Given the description of an element on the screen output the (x, y) to click on. 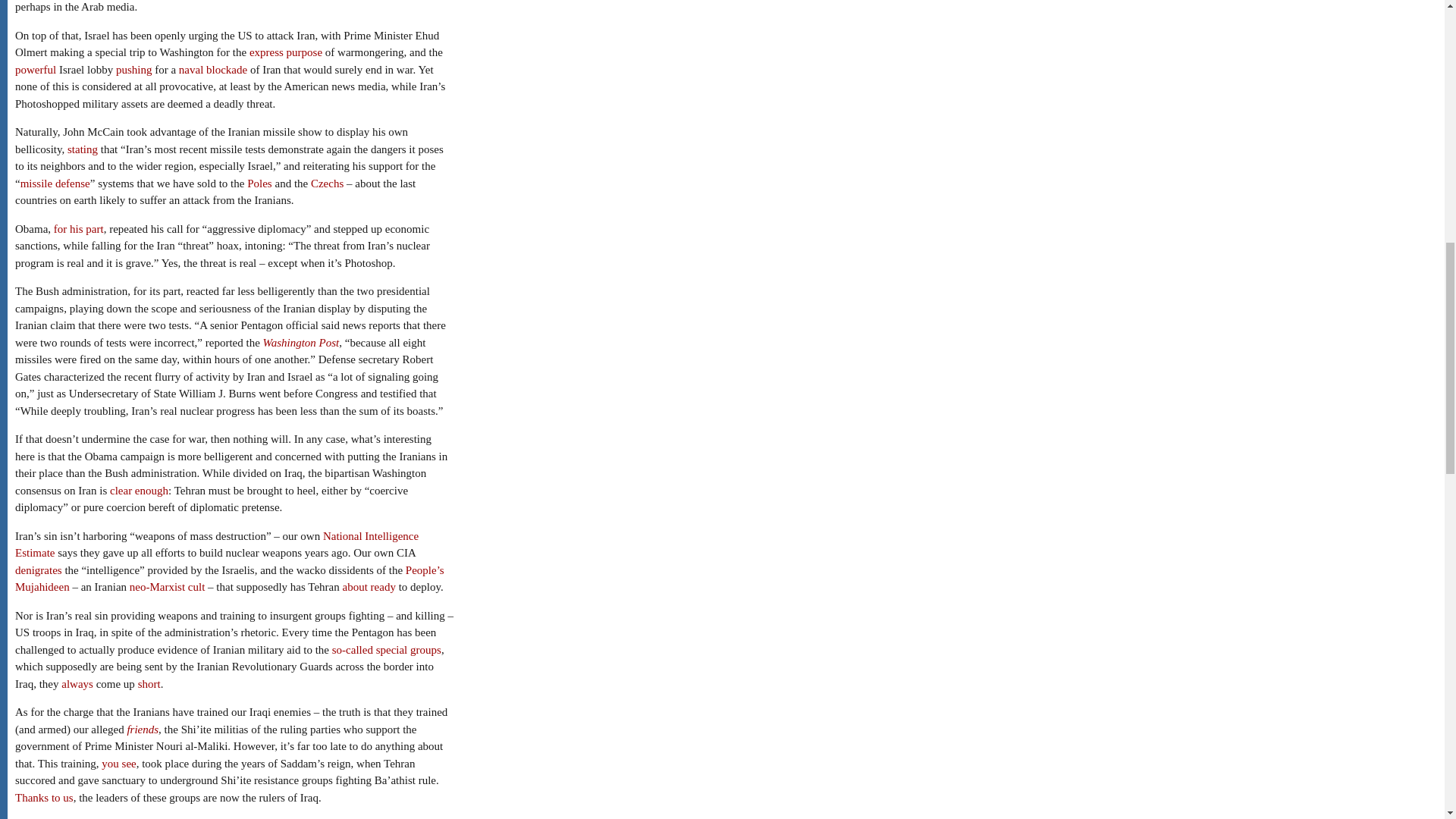
express purpose (284, 51)
Poles (259, 183)
missile defense (55, 183)
stating (81, 149)
pushing (134, 69)
naval blockade (213, 69)
powerful (35, 69)
